Given the description of an element on the screen output the (x, y) to click on. 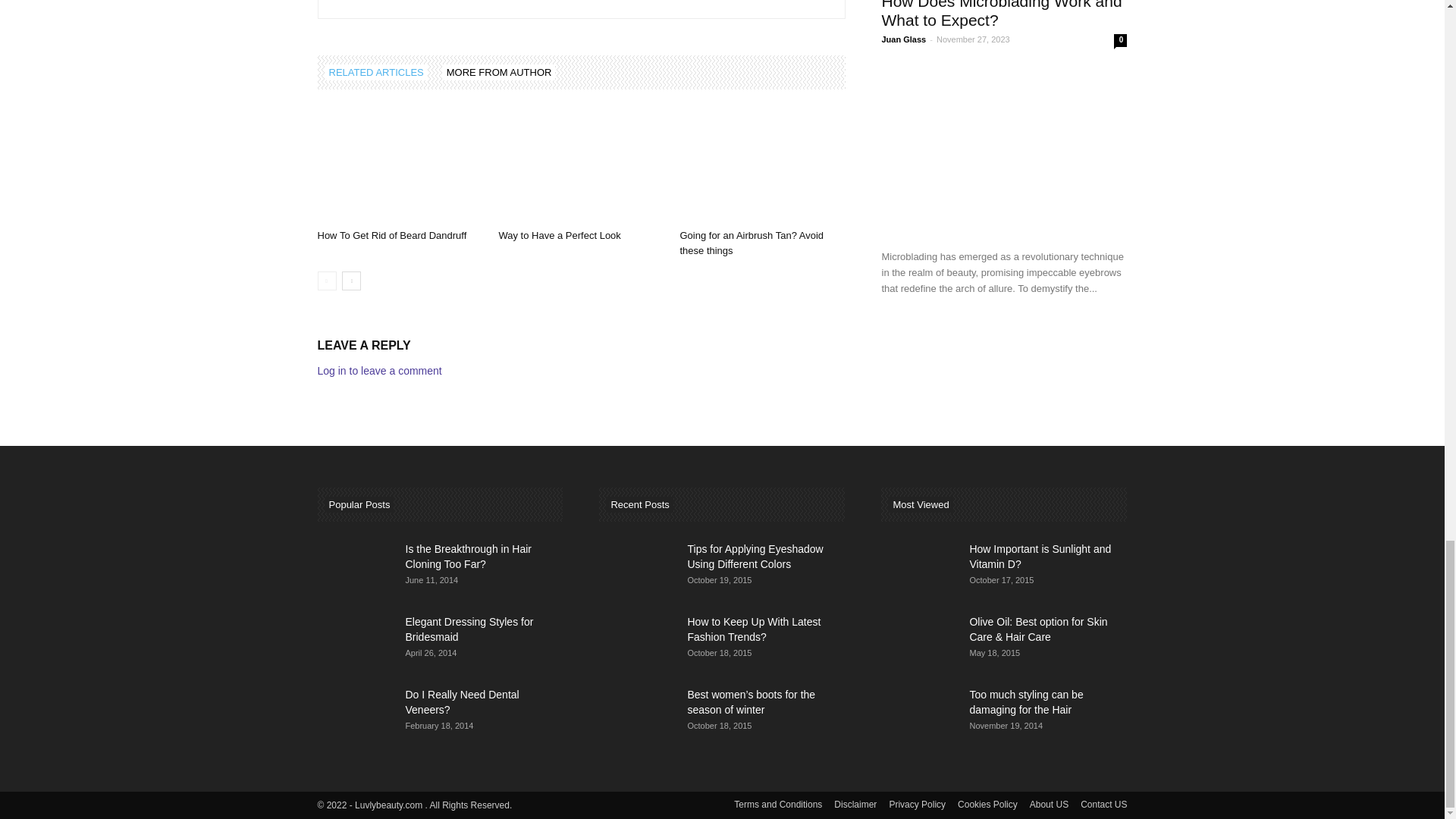
Going for an Airbrush Tan? Avoid these things (751, 243)
Way to Have a Perfect Look (580, 165)
How To Get Rid of Beard Dandruff (399, 165)
Going for an Airbrush Tan? Avoid these things (761, 165)
How To Get Rid of Beard Dandruff (391, 235)
Way to Have a Perfect Look (558, 235)
